Given the description of an element on the screen output the (x, y) to click on. 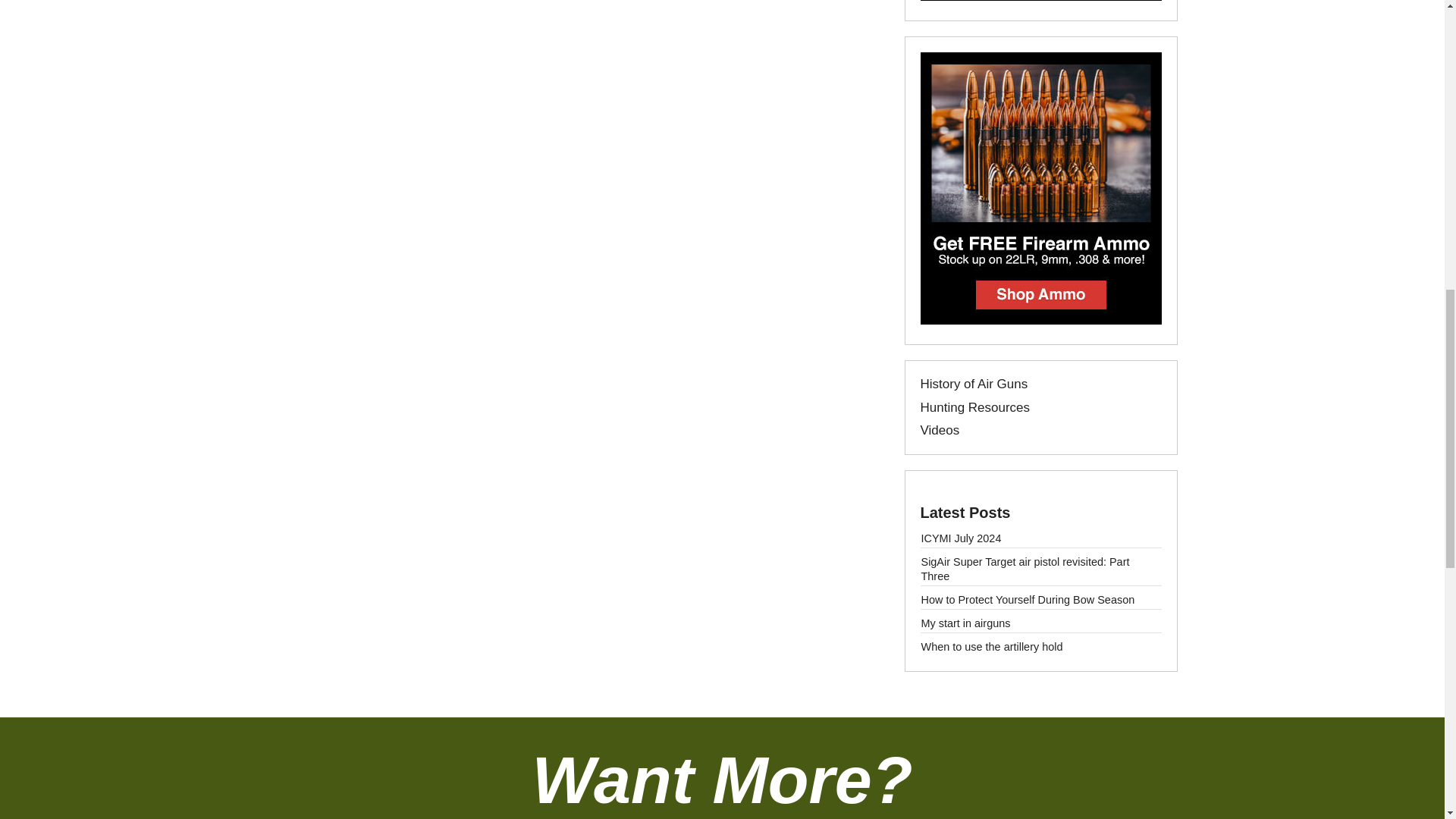
Firearm Ammunition (1040, 319)
Hunting Resources (975, 407)
Scroll back to top (1400, 725)
ICYMI July 2024 (960, 538)
Videos (939, 430)
View the Best BB Guns (1040, 2)
History of Air Guns (973, 383)
